Given the description of an element on the screen output the (x, y) to click on. 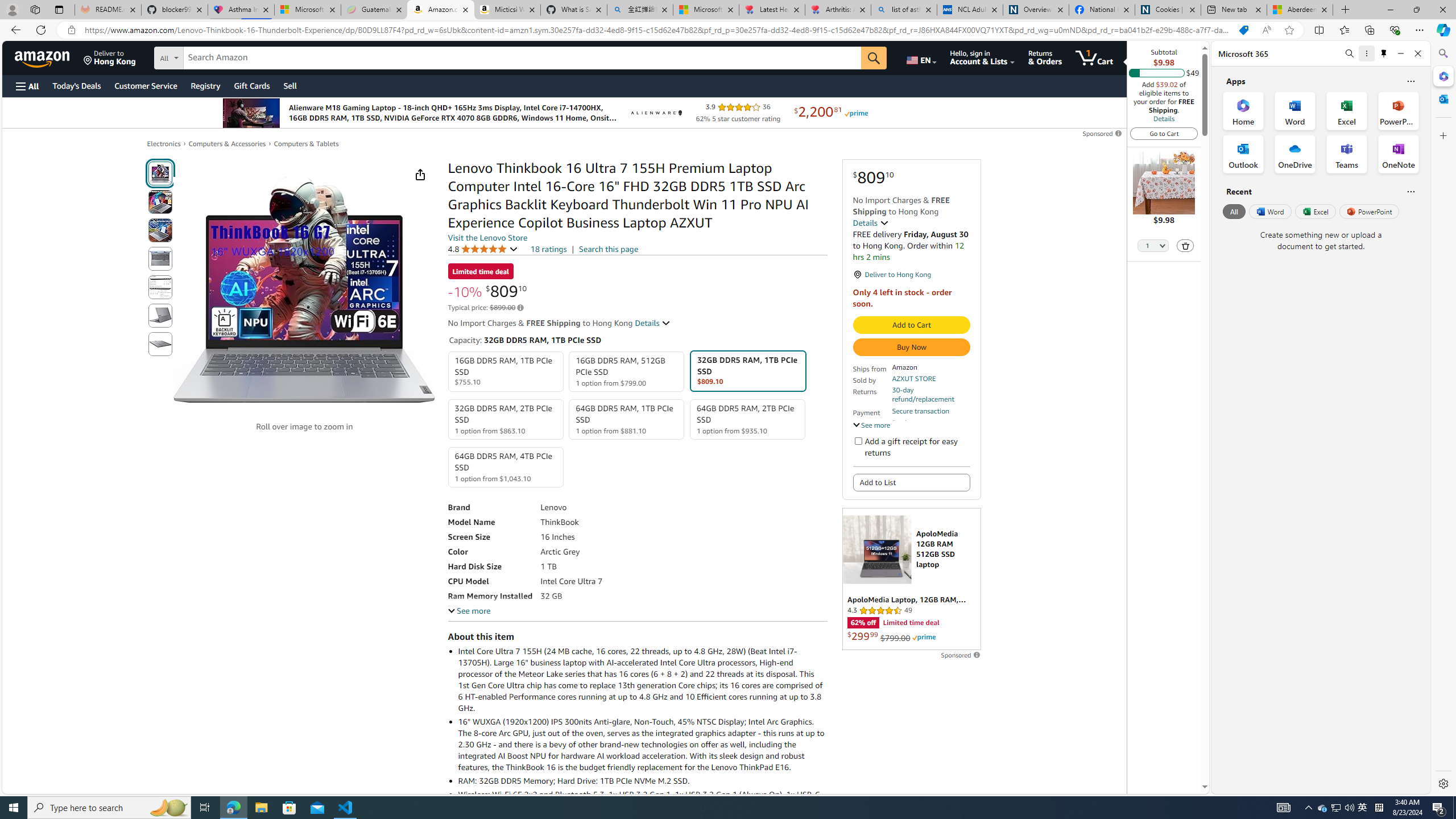
OneDrive Office App (1295, 154)
Computers & Tablets (306, 144)
64GB DDR5 RAM, 1TB PCIe SSD 1 option from $881.10 (626, 418)
Prime (923, 637)
Delete (1185, 245)
Electronics (163, 144)
list of asthma inhalers uk - Search (904, 9)
Buy Now (911, 347)
Close Customize pane (1442, 135)
